Given the description of an element on the screen output the (x, y) to click on. 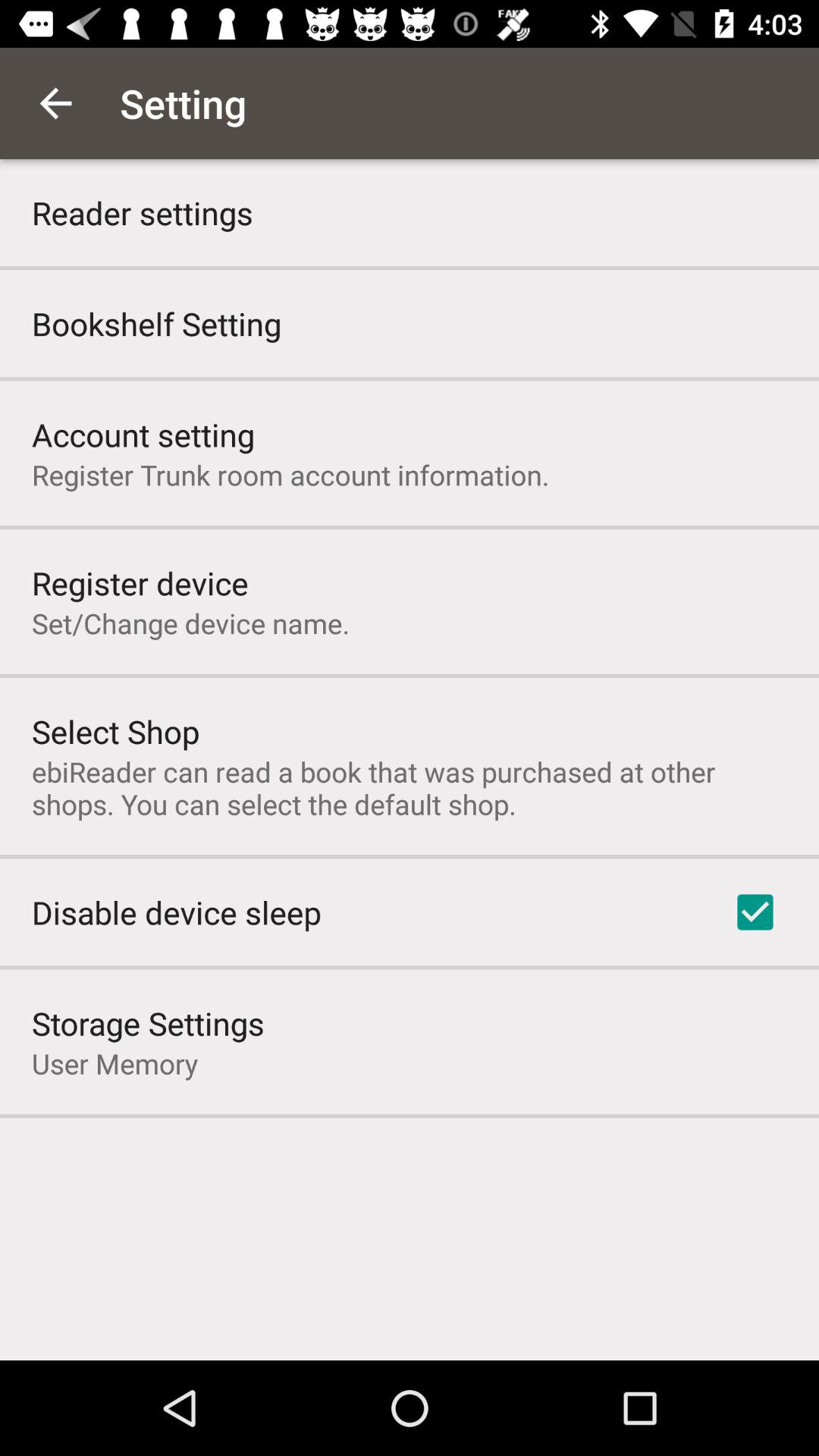
launch the icon to the right of the disable device sleep app (755, 912)
